Given the description of an element on the screen output the (x, y) to click on. 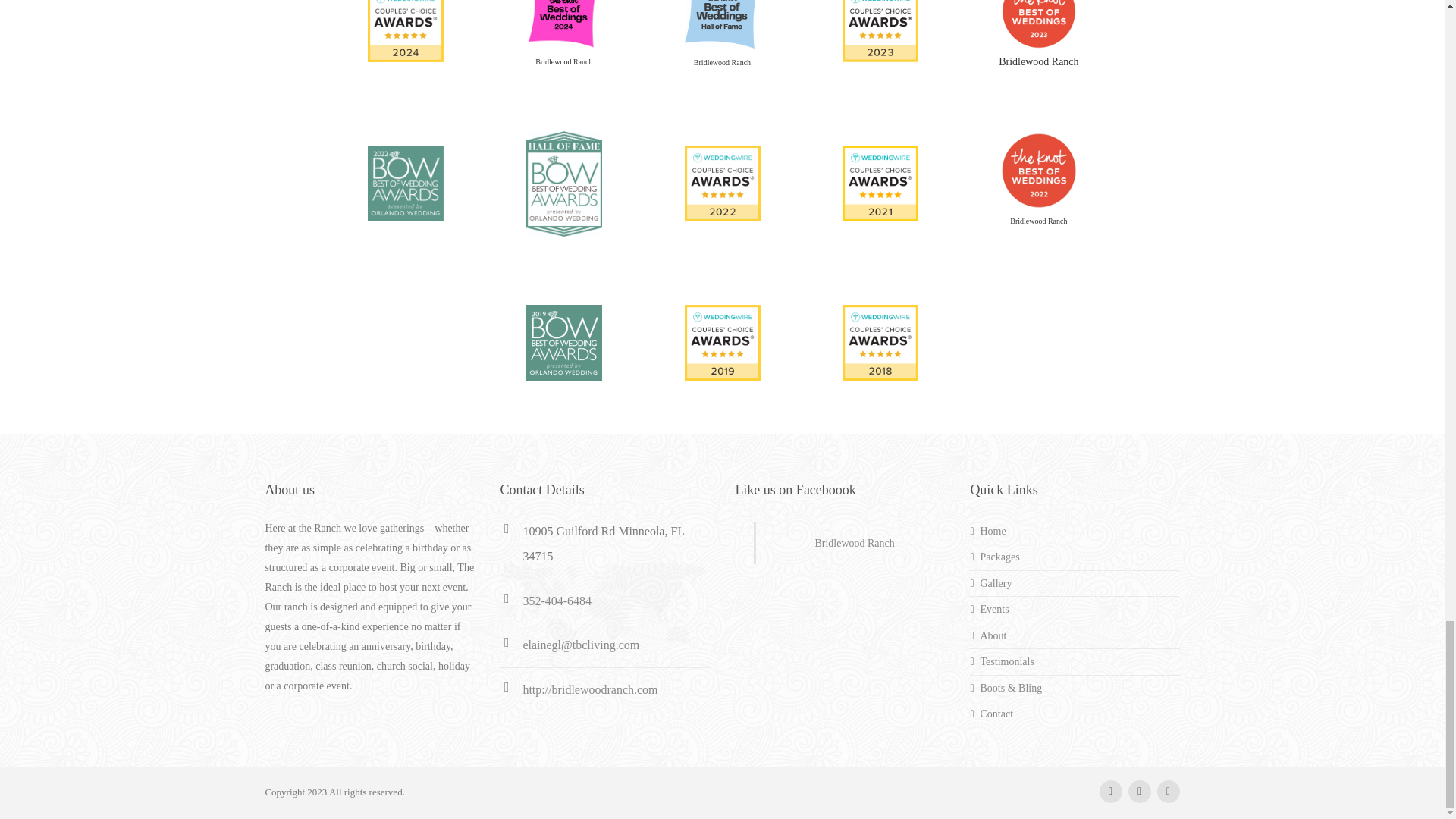
WeddingWire Couples' Choice Award Winner 2023 (880, 22)
WeddingWire Couples' Choice Award Winner 2022 (722, 182)
WeddingWire Couples' Choice Award Winner 2021 (880, 182)
WeddingWire Couples' Choice Award Winner 2024 (406, 22)
WeddingWire Couples' Choice Award Winner 2019 (722, 341)
